Given the description of an element on the screen output the (x, y) to click on. 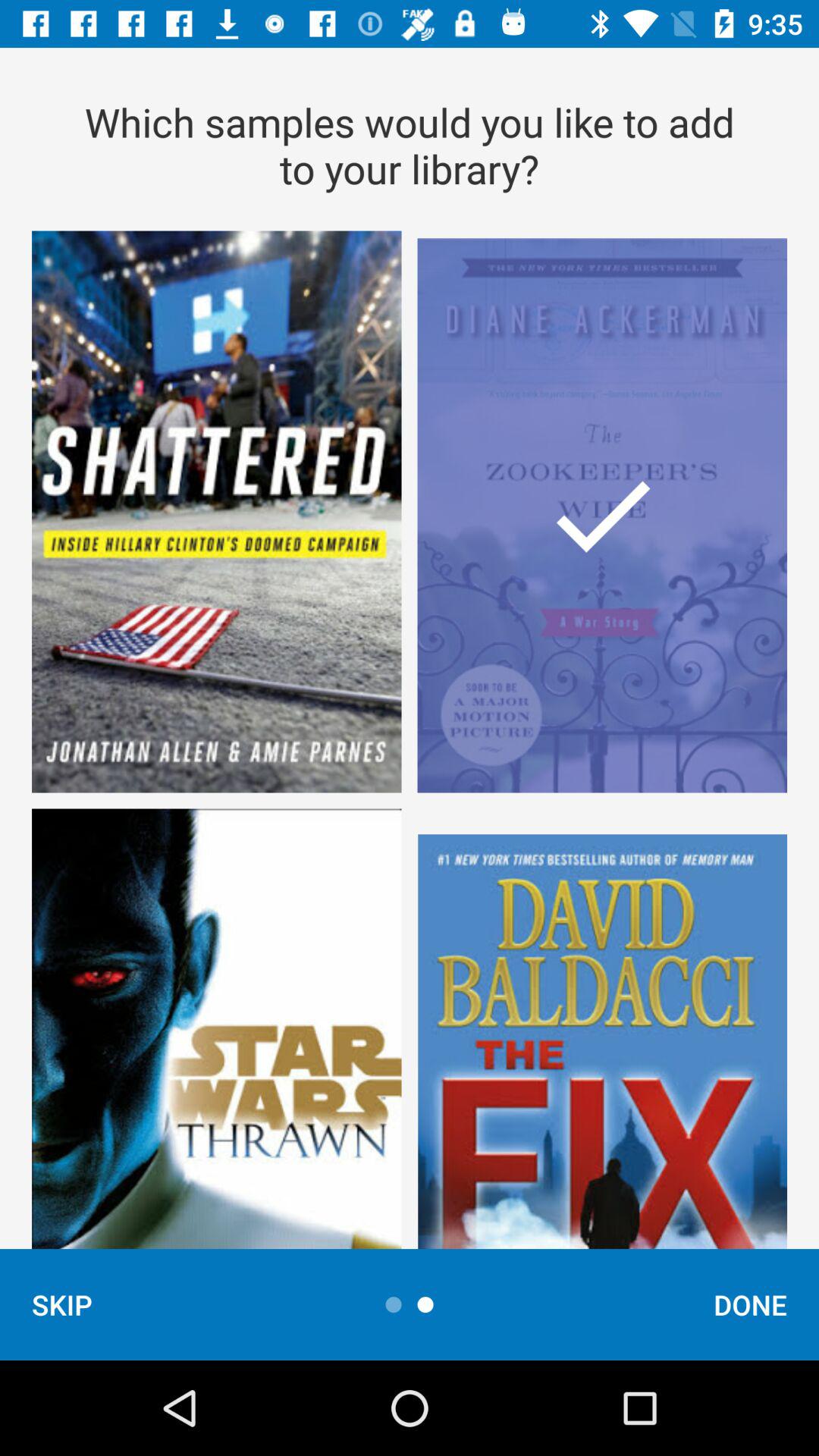
flip until the skip (61, 1304)
